Given the description of an element on the screen output the (x, y) to click on. 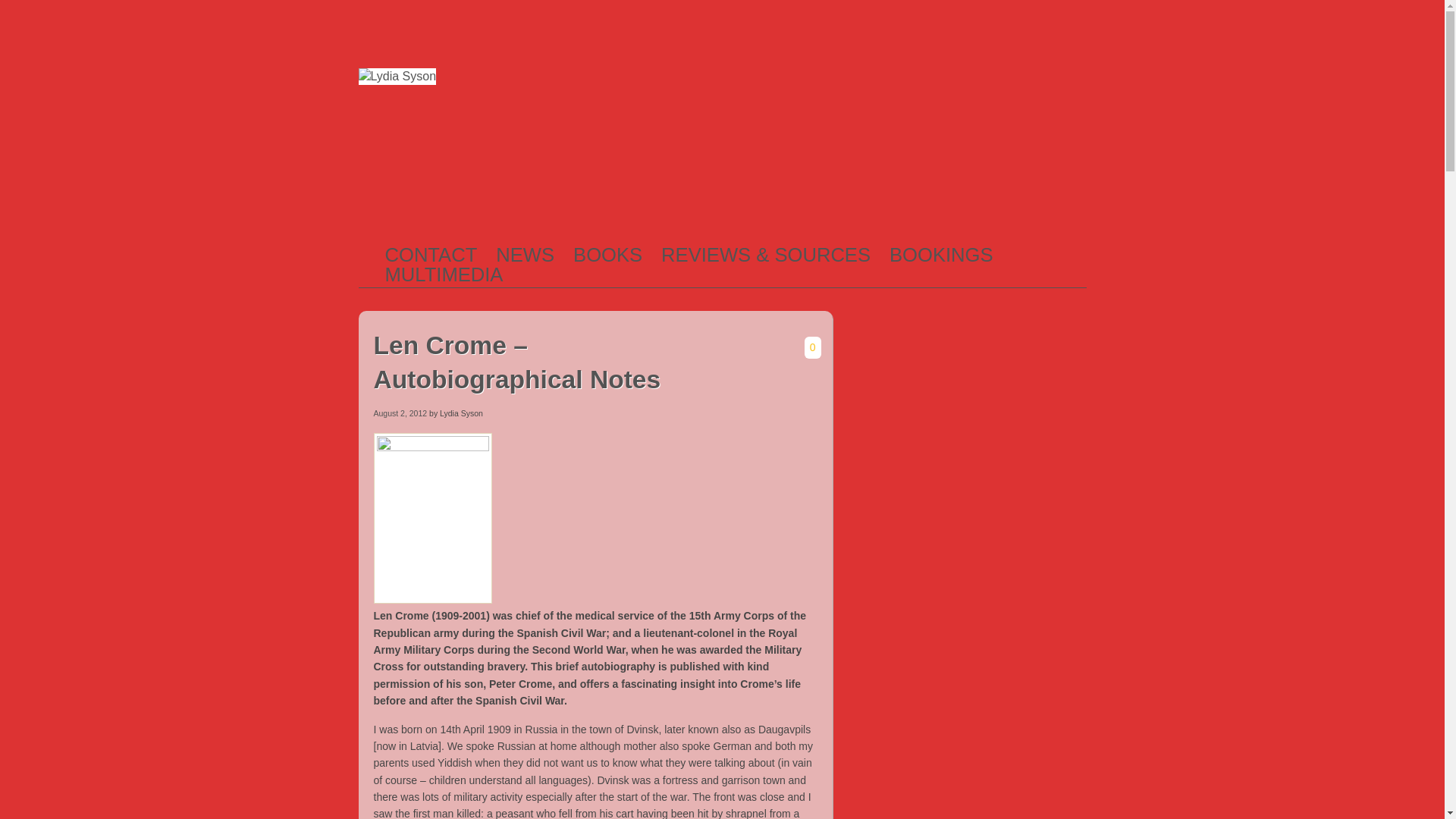
CONTACT (431, 255)
BOOKINGS (940, 255)
Twitter (1057, 26)
Books by Lydia Syson (607, 255)
August 2, 2012 (399, 412)
About the Author, Lydia Syson (431, 255)
NEWS (525, 255)
Events (940, 255)
Len Crome - Autobiographical Notes (433, 447)
BOOKS (607, 255)
